Given the description of an element on the screen output the (x, y) to click on. 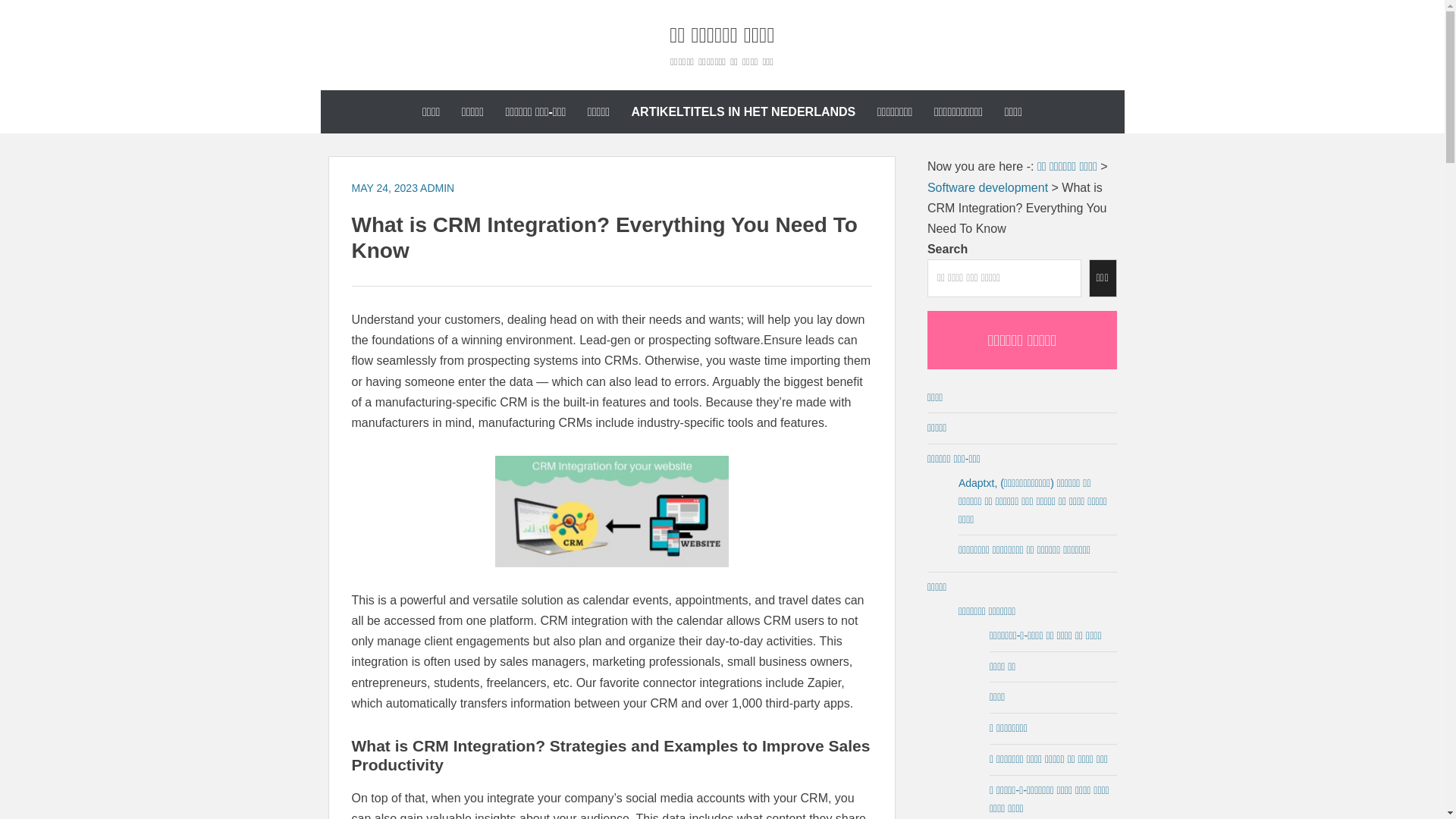
Go to the Software development Category archives. (987, 187)
